Given the description of an element on the screen output the (x, y) to click on. 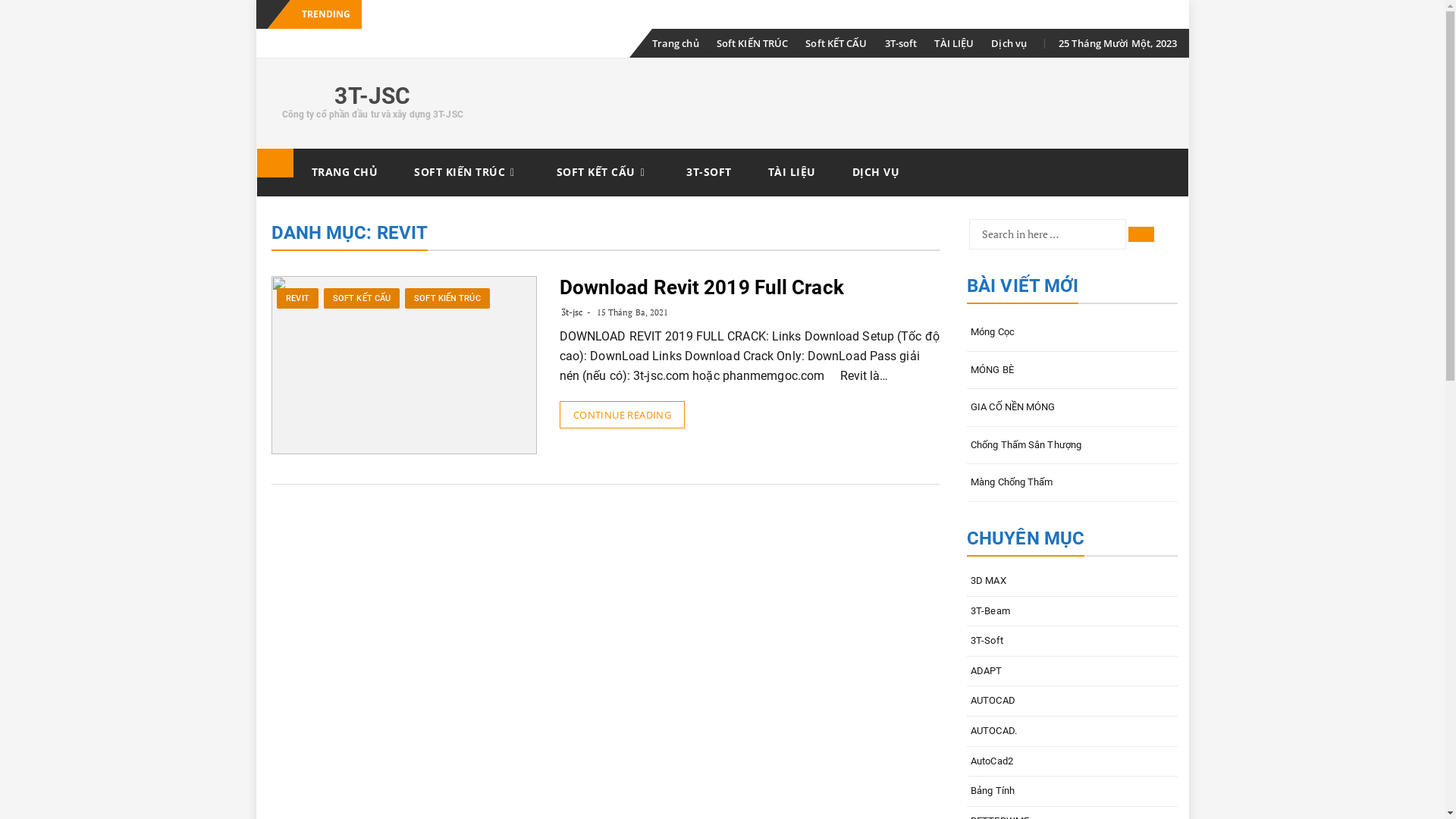
3T-Soft Element type: text (1071, 640)
Download Revit 2019 Full Crack Element type: text (701, 287)
3T-SOFT Element type: text (708, 171)
ADAPT Element type: text (1071, 671)
Search Element type: text (1141, 233)
3t-jsc Element type: text (572, 311)
AUTOCAD Element type: text (1071, 700)
3T-JSC Element type: hover (274, 162)
Skip to content Element type: text (643, 28)
CONTINUE READING Element type: text (621, 414)
AUTOCAD. Element type: text (1071, 731)
AutoCad2 Element type: text (1071, 761)
3T-soft Element type: text (900, 43)
3T-JSC Element type: text (372, 95)
Skip to content Element type: text (256, 147)
3T-Beam Element type: text (1071, 611)
REVIT Element type: text (297, 298)
3D MAX Element type: text (1071, 581)
Search for: Element type: hover (1047, 234)
